Given the description of an element on the screen output the (x, y) to click on. 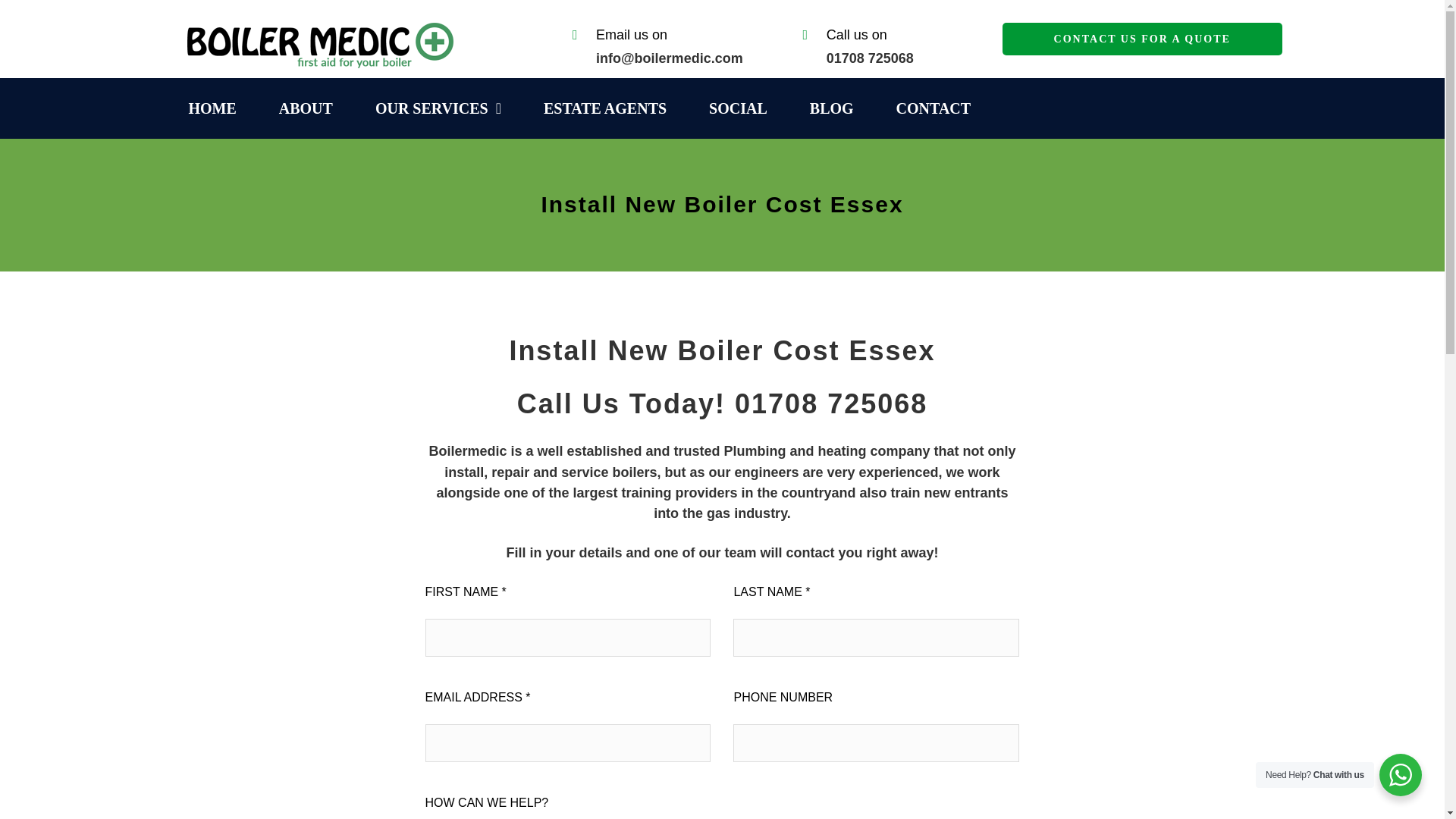
01708 725068 (870, 58)
ABOUT (311, 108)
CONTACT (939, 108)
CONTACT US FOR A QUOTE (1142, 38)
OUR SERVICES (443, 108)
BLOG (837, 108)
SOCIAL (743, 108)
ESTATE AGENTS (609, 108)
01708 725068 (831, 403)
HOME (216, 108)
